Given the description of an element on the screen output the (x, y) to click on. 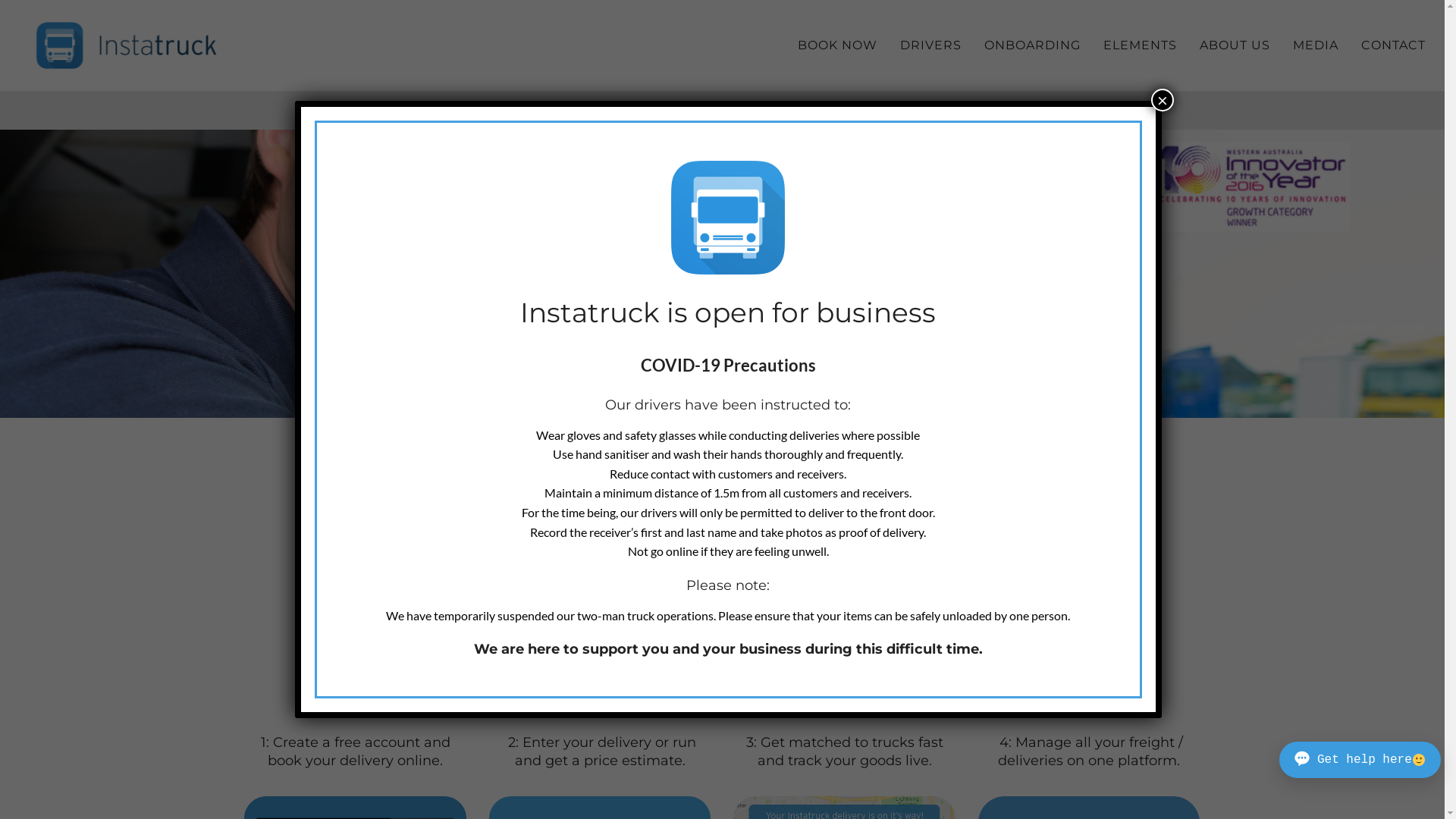
Create a Free Account Element type: text (527, 641)
MEDIA Element type: text (1315, 45)
DRIVERS Element type: text (930, 45)
Book a Truck Now Element type: text (726, 641)
ONBOARDING Element type: text (1032, 45)
Register as a Driver  Element type: text (915, 641)
BOOK NOW Element type: text (837, 45)
CONTACT Element type: text (1393, 45)
ELEMENTS Element type: text (1140, 45)
ABOUT US Element type: text (1234, 45)
Get help here Element type: text (1359, 759)
